Given the description of an element on the screen output the (x, y) to click on. 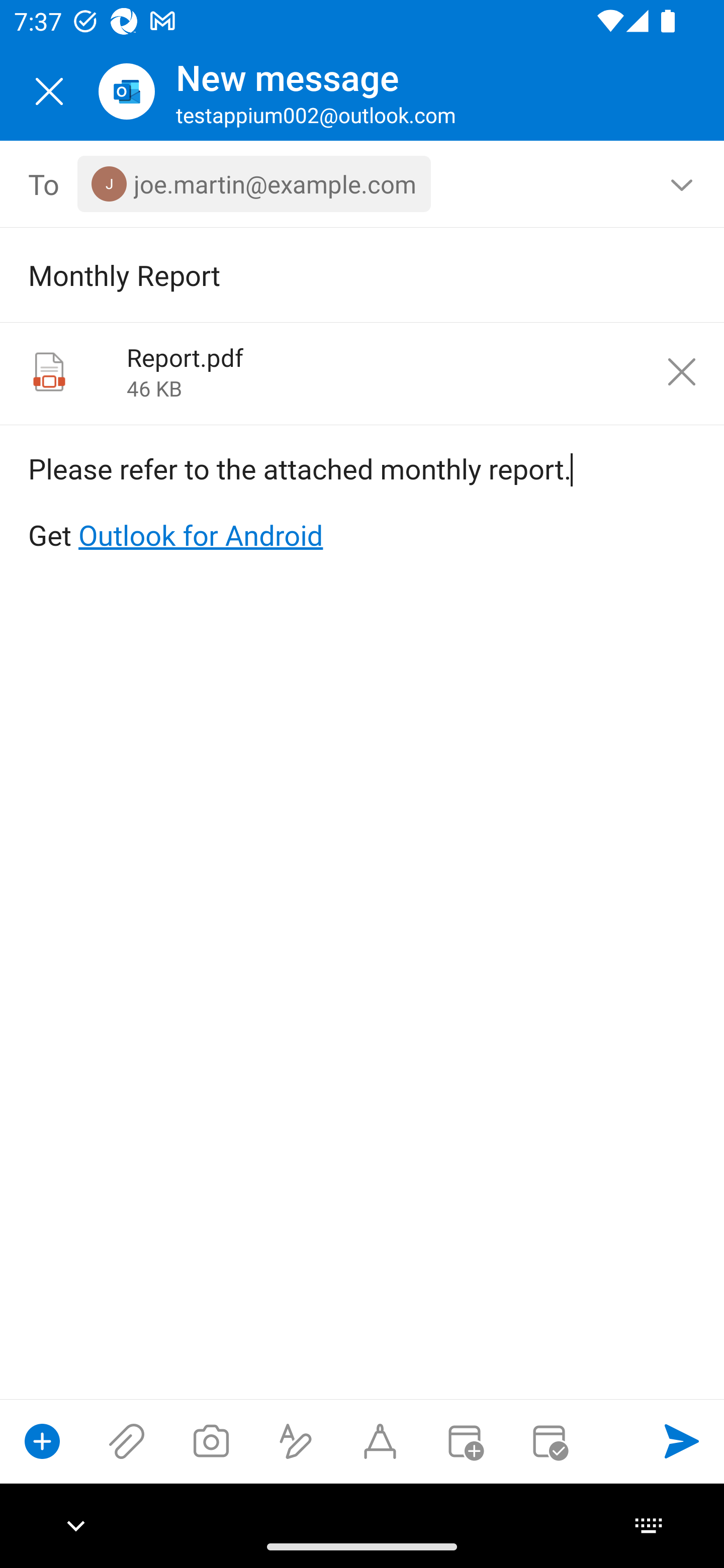
Close (49, 91)
To, 1 recipient <joe.martin@example.com> (362, 184)
Monthly Report (333, 274)
Report.pdf 46 KB Remove attachment Report.pdf (362, 373)
Remove attachment Report.pdf (681, 372)
Show compose options (42, 1440)
Attach files (126, 1440)
Take a photo (210, 1440)
Show formatting options (295, 1440)
Start Ink compose (380, 1440)
Convert to event (464, 1440)
Send availability (548, 1440)
Send (681, 1440)
